Given the description of an element on the screen output the (x, y) to click on. 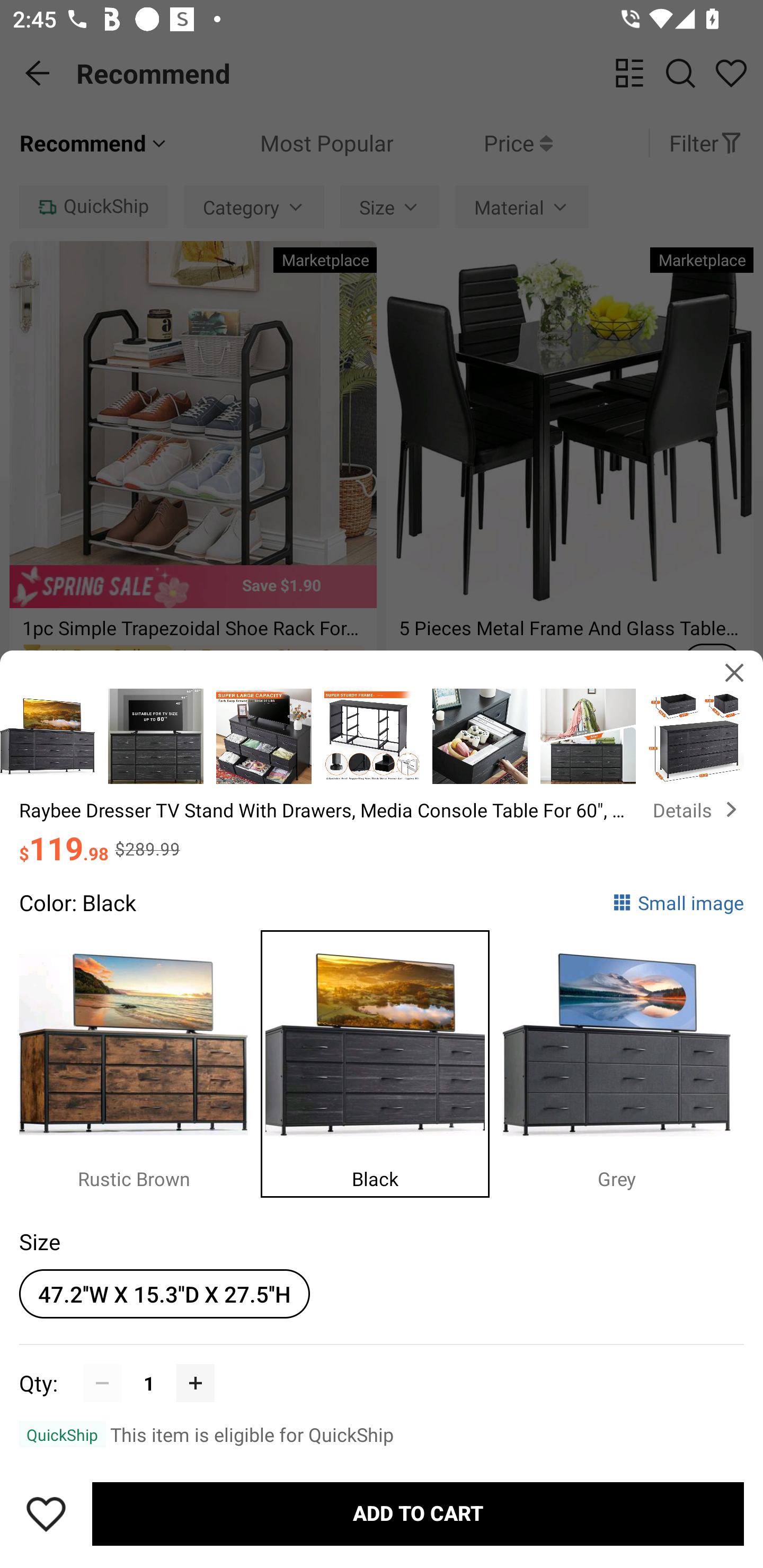
Details (698, 809)
Color: Black (77, 902)
Small image (677, 902)
Rustic Brown (139, 1059)
Black (381, 1059)
Grey (622, 1059)
Size (39, 1240)
ADD TO CART (417, 1513)
Save (46, 1513)
